Given the description of an element on the screen output the (x, y) to click on. 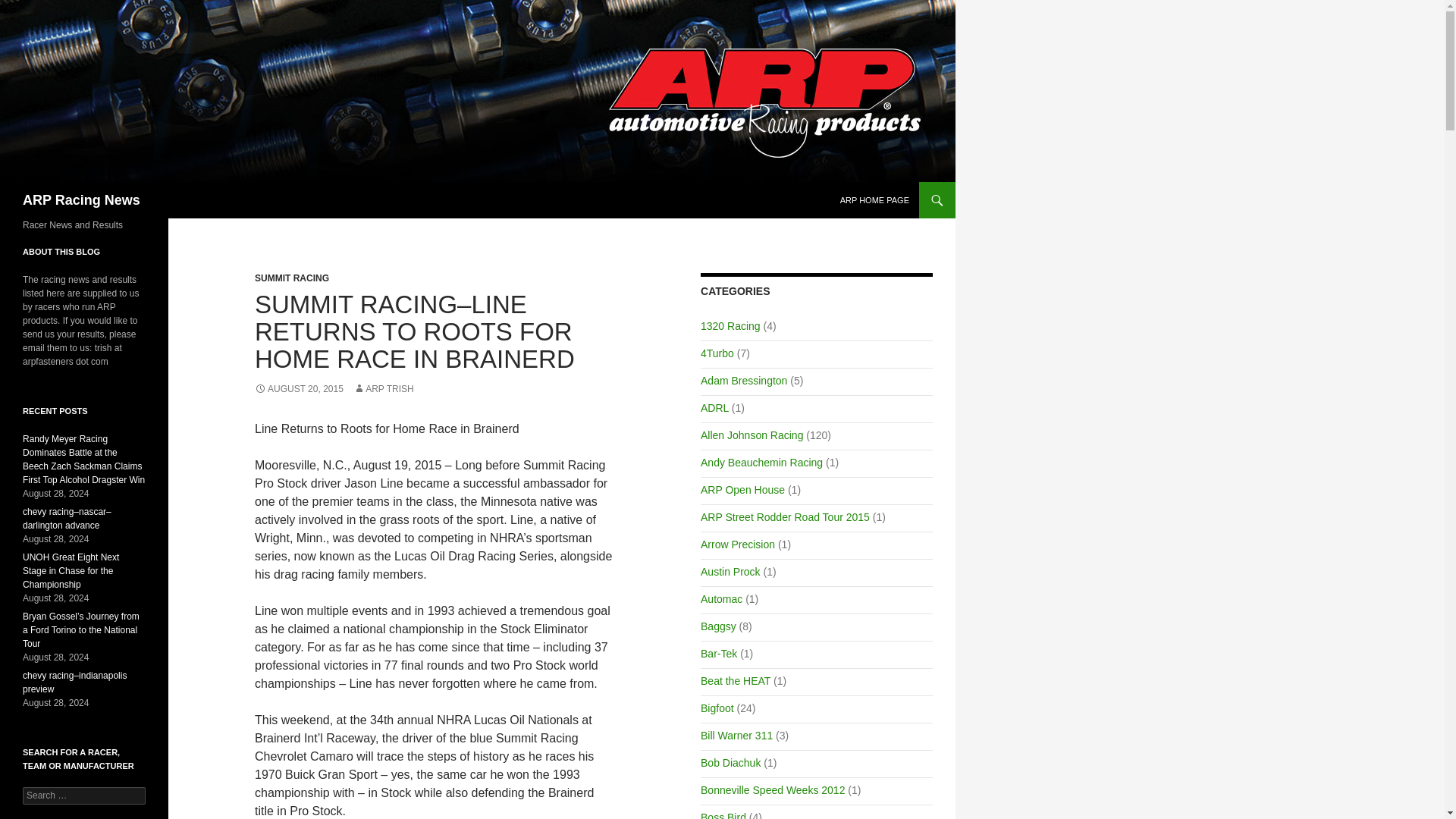
Bigfoot (716, 707)
ARP Open House (742, 490)
Andy Beauchemin Racing (761, 462)
Bar-Tek (718, 653)
ARP Street Rodder Road Tour 2015 (784, 517)
Adam Bressington (743, 380)
Bob Diachuk (730, 762)
Bonneville Speed Weeks 2012 (772, 789)
Boss Bird (722, 815)
Baggsy (718, 625)
